Given the description of an element on the screen output the (x, y) to click on. 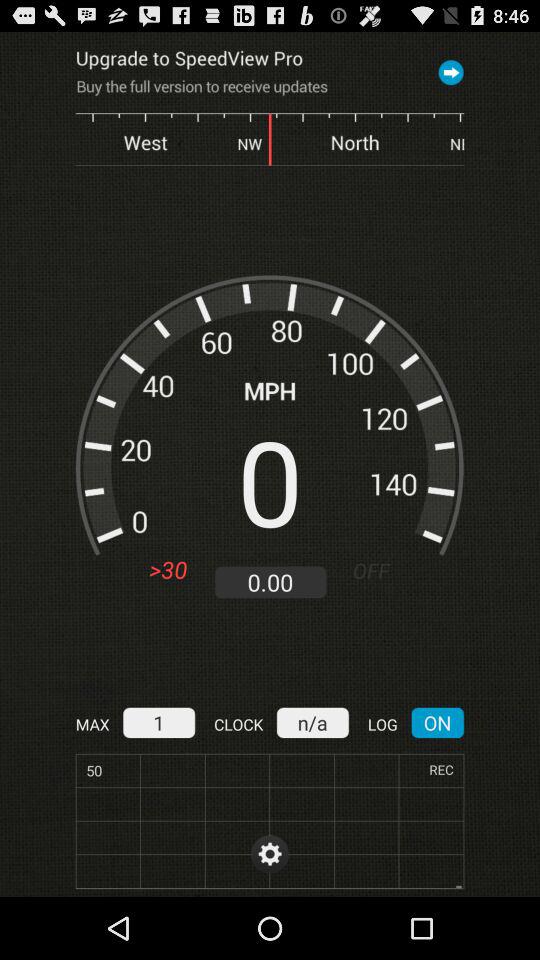
setting (269, 854)
